Given the description of an element on the screen output the (x, y) to click on. 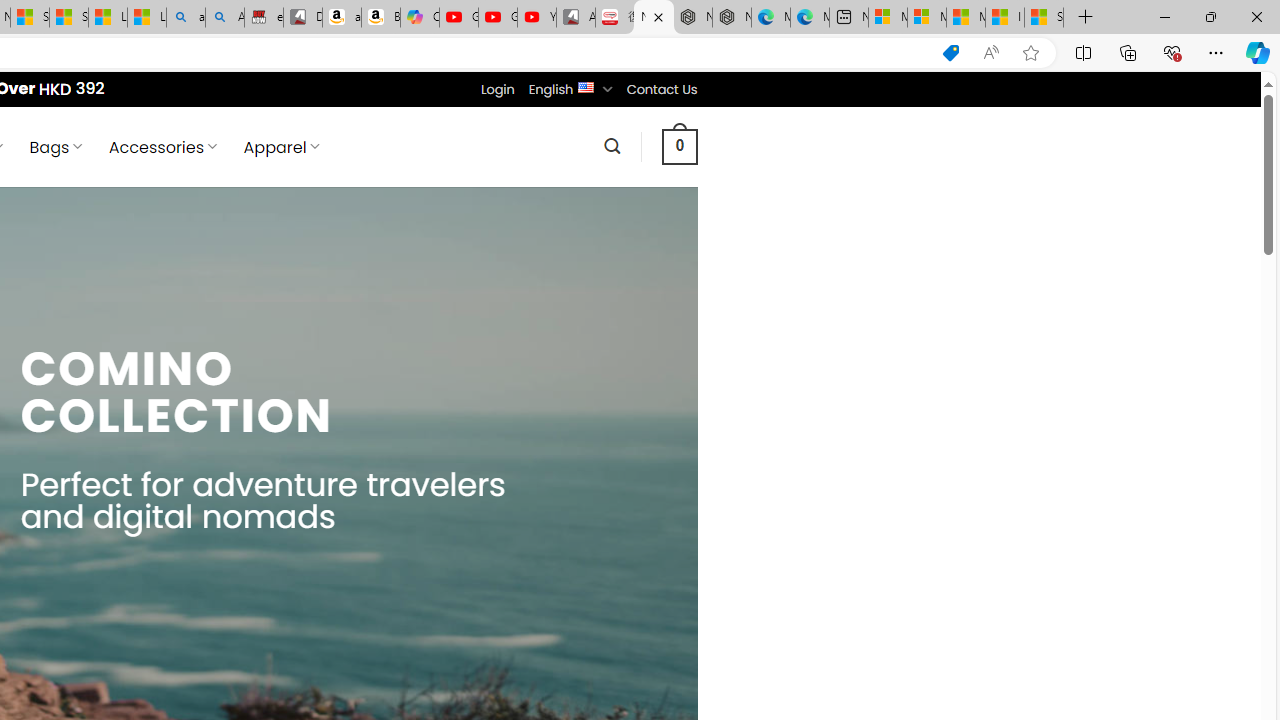
Nordace - Nordace has arrived Hong Kong (732, 17)
 0  (679, 146)
I Gained 20 Pounds of Muscle in 30 Days! | Watch (1004, 17)
amazon.in/dp/B0CX59H5W7/?tag=gsmcom05-21 (341, 17)
Nordace - Comino Collection (653, 17)
Login (497, 89)
Gloom - YouTube (497, 17)
